Given the description of an element on the screen output the (x, y) to click on. 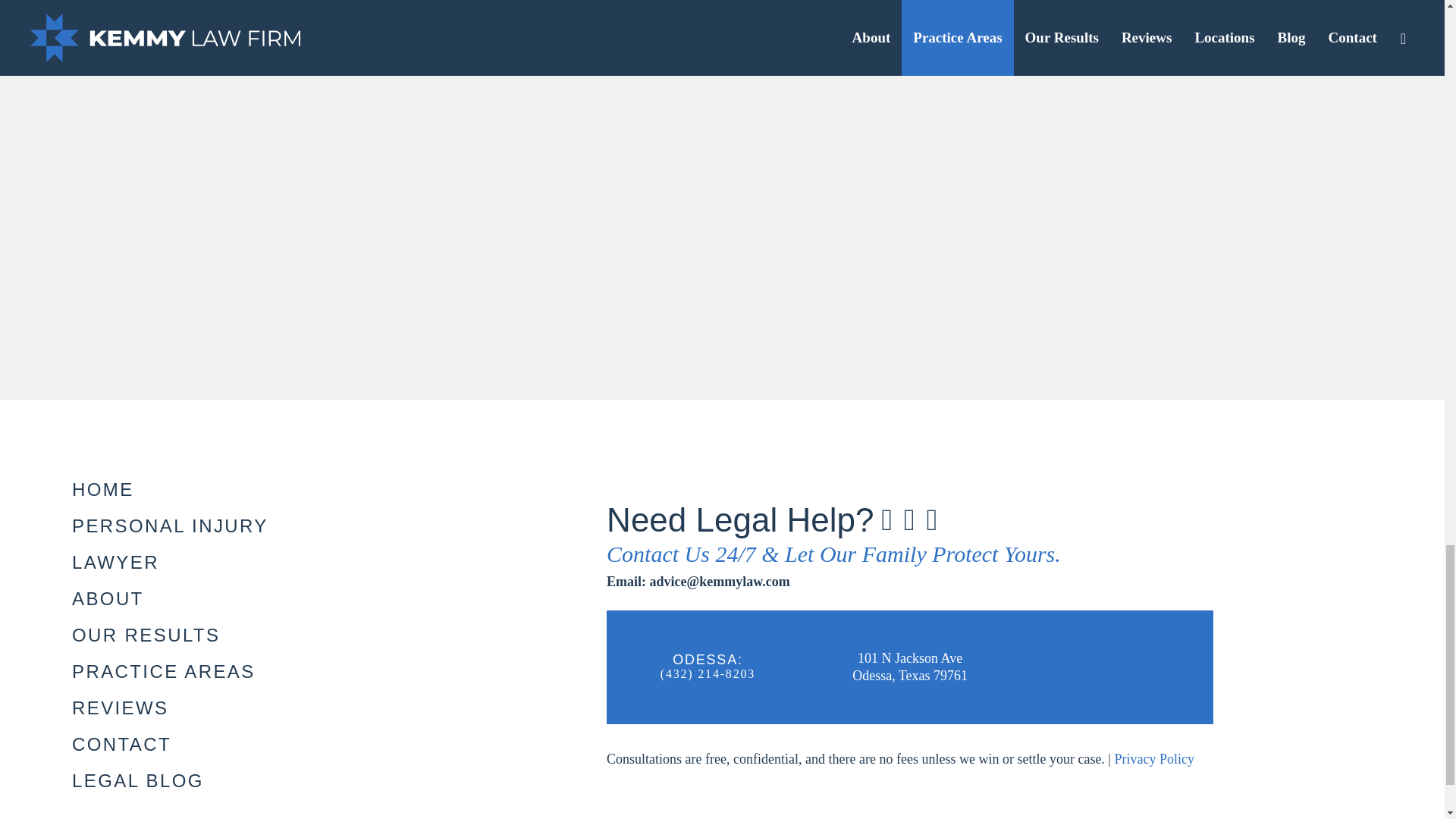
Our Privacy Policy (1153, 758)
Email Kemmy Law Firm (698, 581)
Call Kemmy Law Firm Today (707, 673)
